Given the description of an element on the screen output the (x, y) to click on. 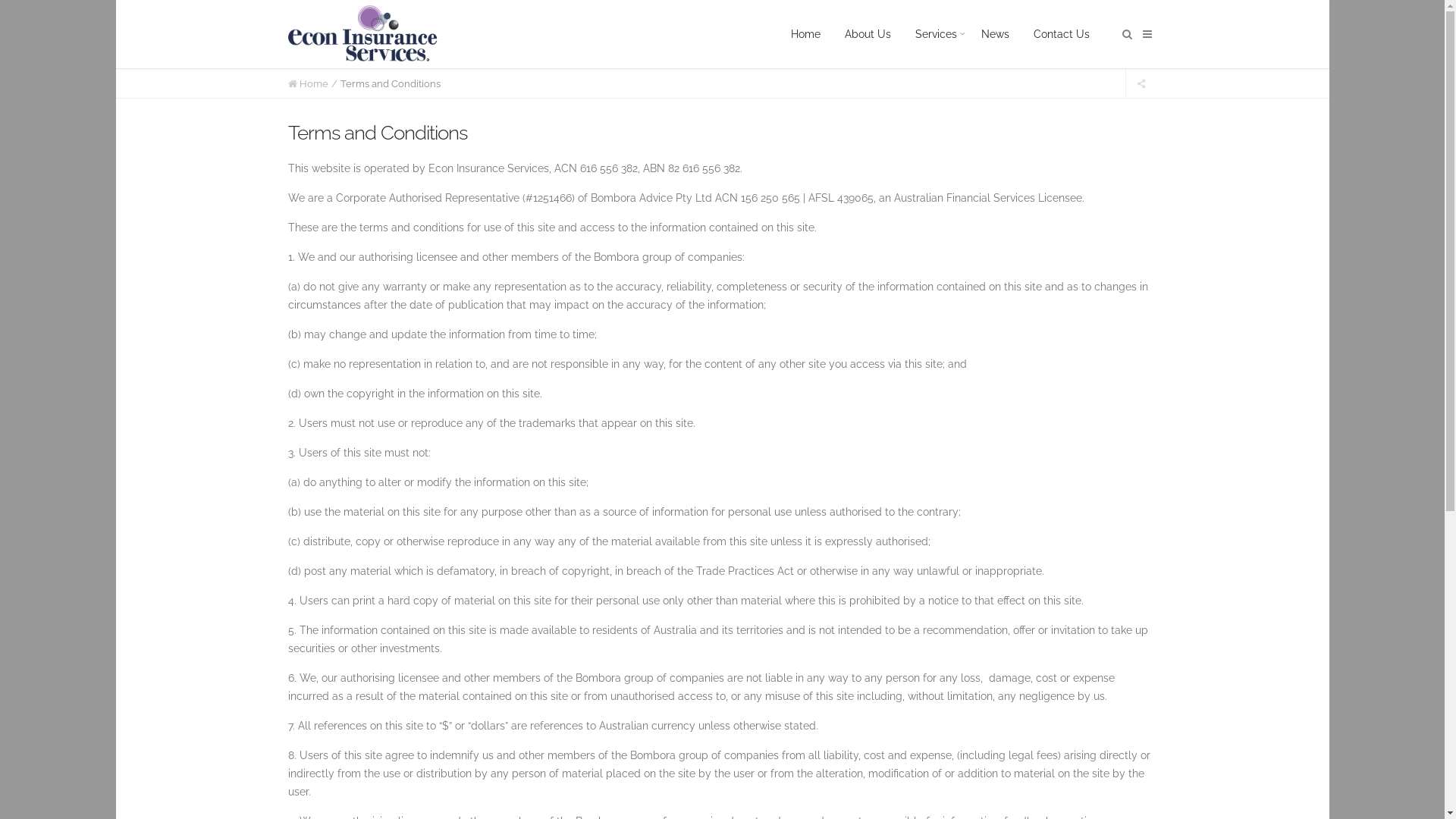
Share Element type: hover (1140, 83)
Contact Us Element type: text (1060, 34)
About Us Element type: text (867, 34)
News Element type: text (995, 34)
Services Element type: text (935, 34)
Home Element type: text (804, 34)
Home Element type: text (312, 83)
